Given the description of an element on the screen output the (x, y) to click on. 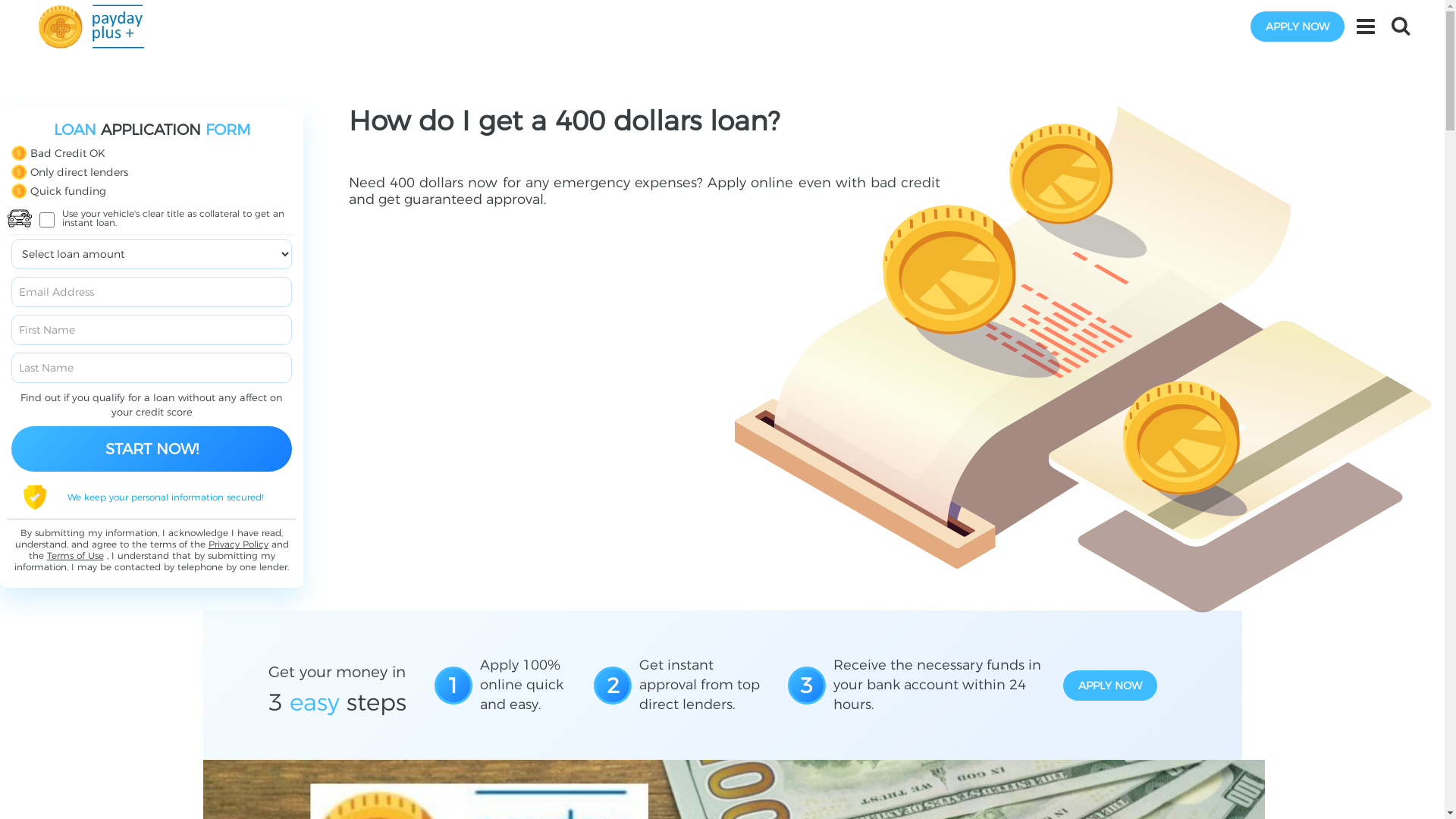
Terms of Use Element type: text (75, 555)
Privacy Policy Element type: text (237, 543)
Apply 100% online quick and easy. Element type: text (529, 684)
START NOW! Element type: text (151, 448)
APPLY NOW Element type: text (1297, 26)
APPLY NOW Element type: text (1110, 685)
Submit Element type: text (140, 18)
Get instant approval from top direct lenders. Element type: text (705, 684)
